Given the description of an element on the screen output the (x, y) to click on. 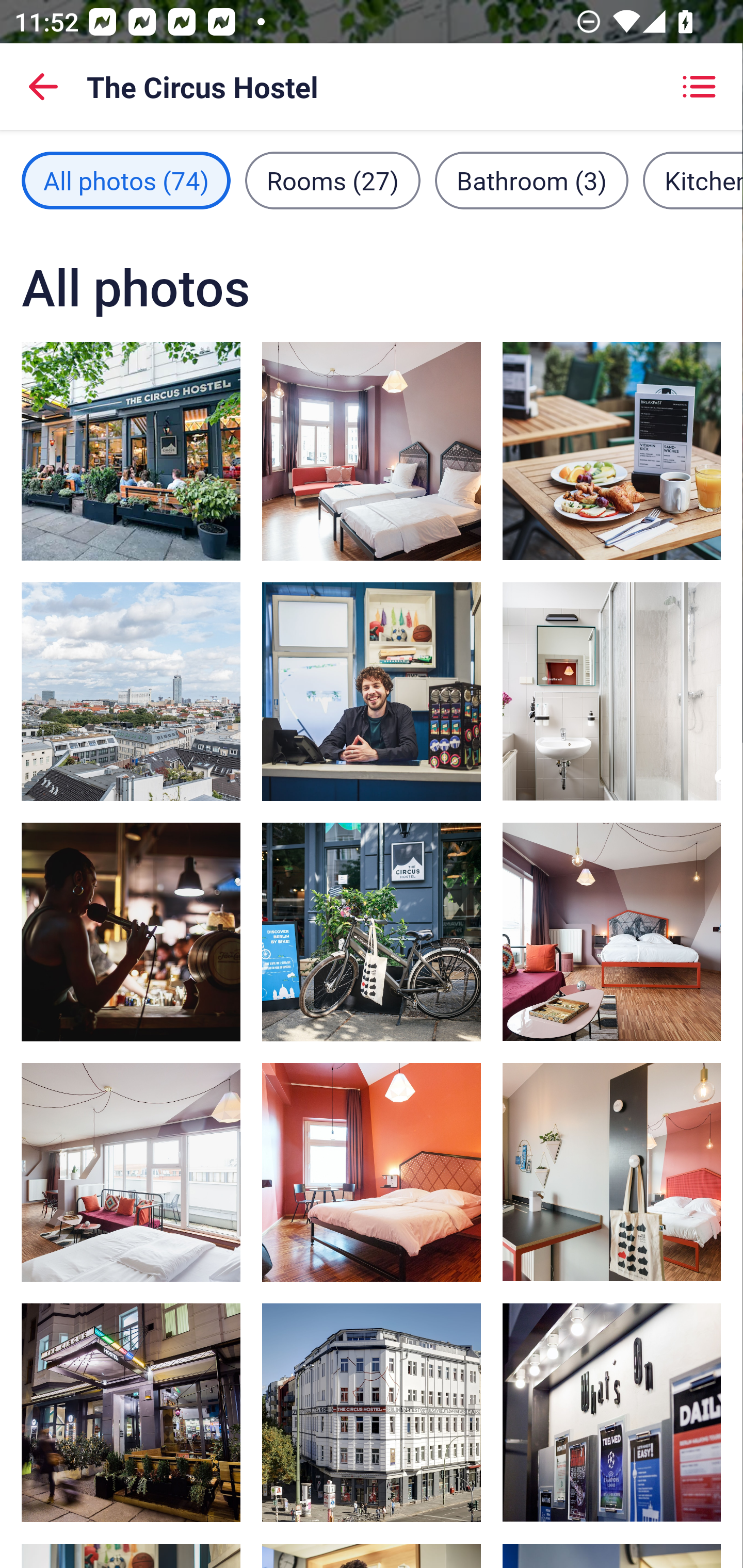
Back (43, 86)
Showing grid view (699, 86)
All photos filter, 74 images (125, 180)
Rooms filter, 27 images (332, 180)
Bathroom filter, 3 images (531, 180)
Terrace/patio, image (130, 451)
City view, image (130, 691)
Reception, image (371, 691)
Eco-friendly toiletries, towels, image (611, 691)
Bar (on property), image (130, 932)
Front of property, image (371, 932)
Property entrance, image (130, 1412)
Building design, image (371, 1412)
Lobby, image (611, 1411)
